Given the description of an element on the screen output the (x, y) to click on. 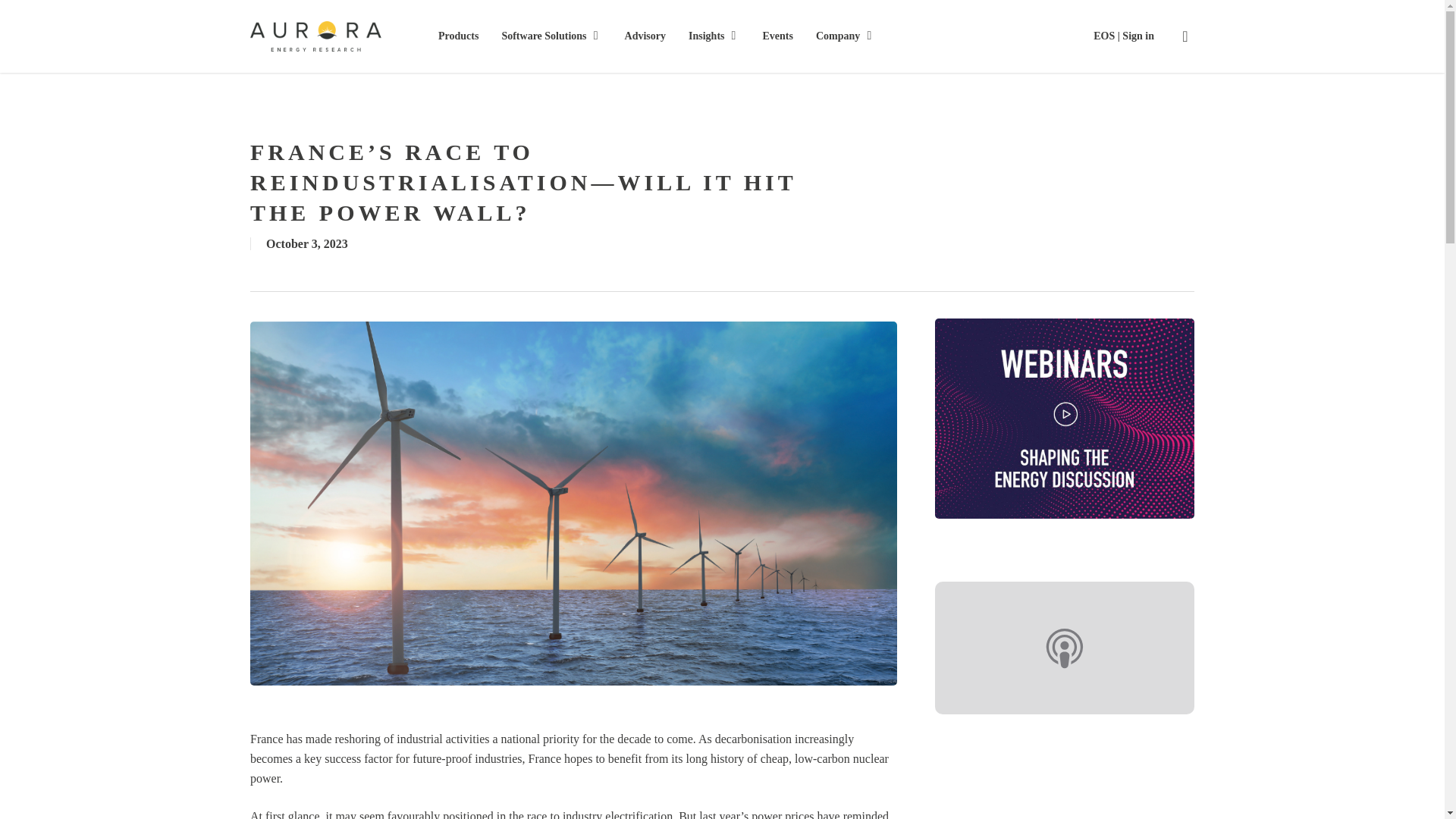
Company (845, 36)
Advisory (644, 36)
Software Solutions (550, 36)
search (1184, 36)
Insights (713, 36)
Events (777, 36)
Products (458, 36)
